Given the description of an element on the screen output the (x, y) to click on. 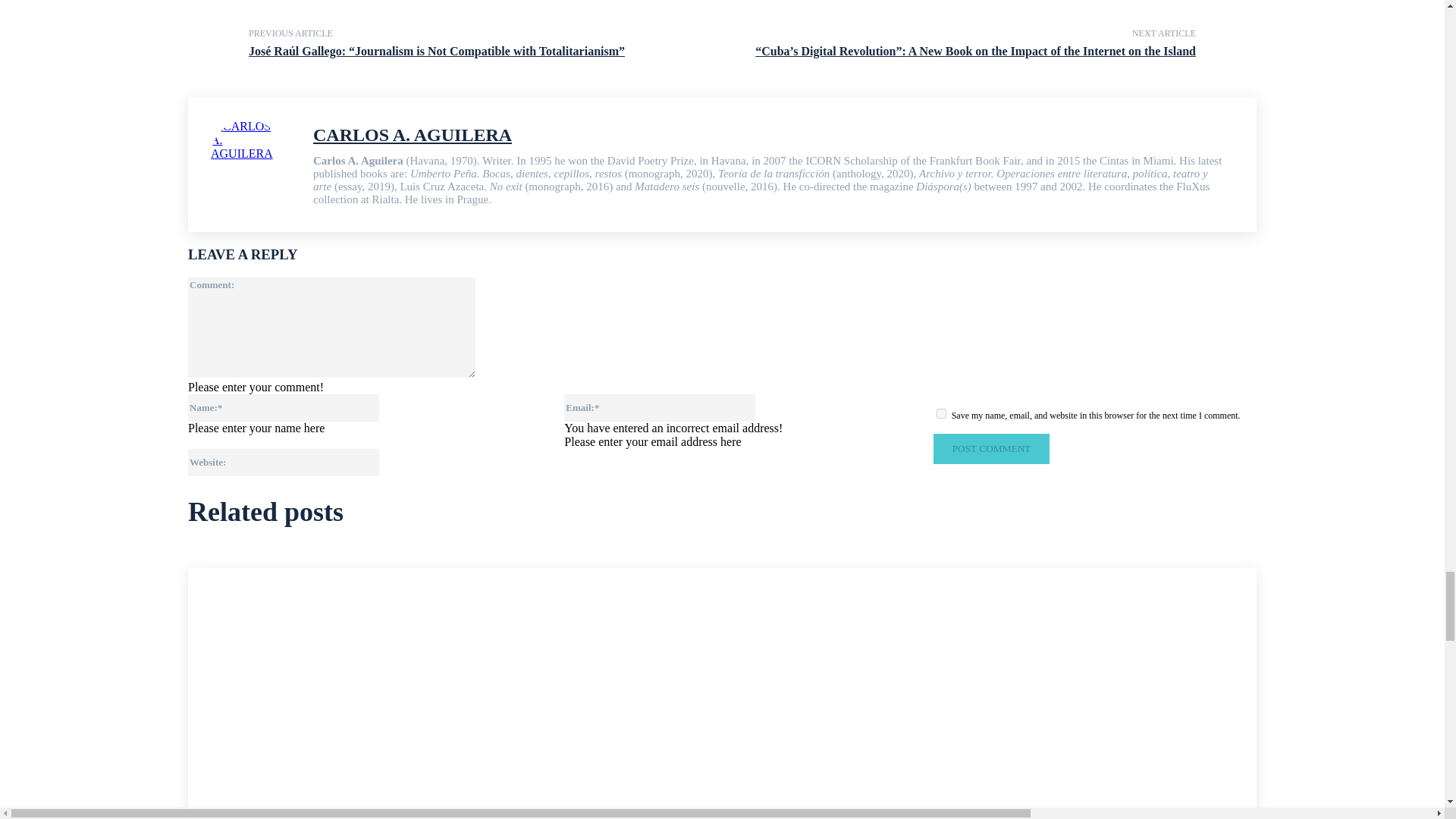
yes (941, 413)
Post Comment (991, 449)
CARLOS A. AGUILERA (254, 164)
